Given the description of an element on the screen output the (x, y) to click on. 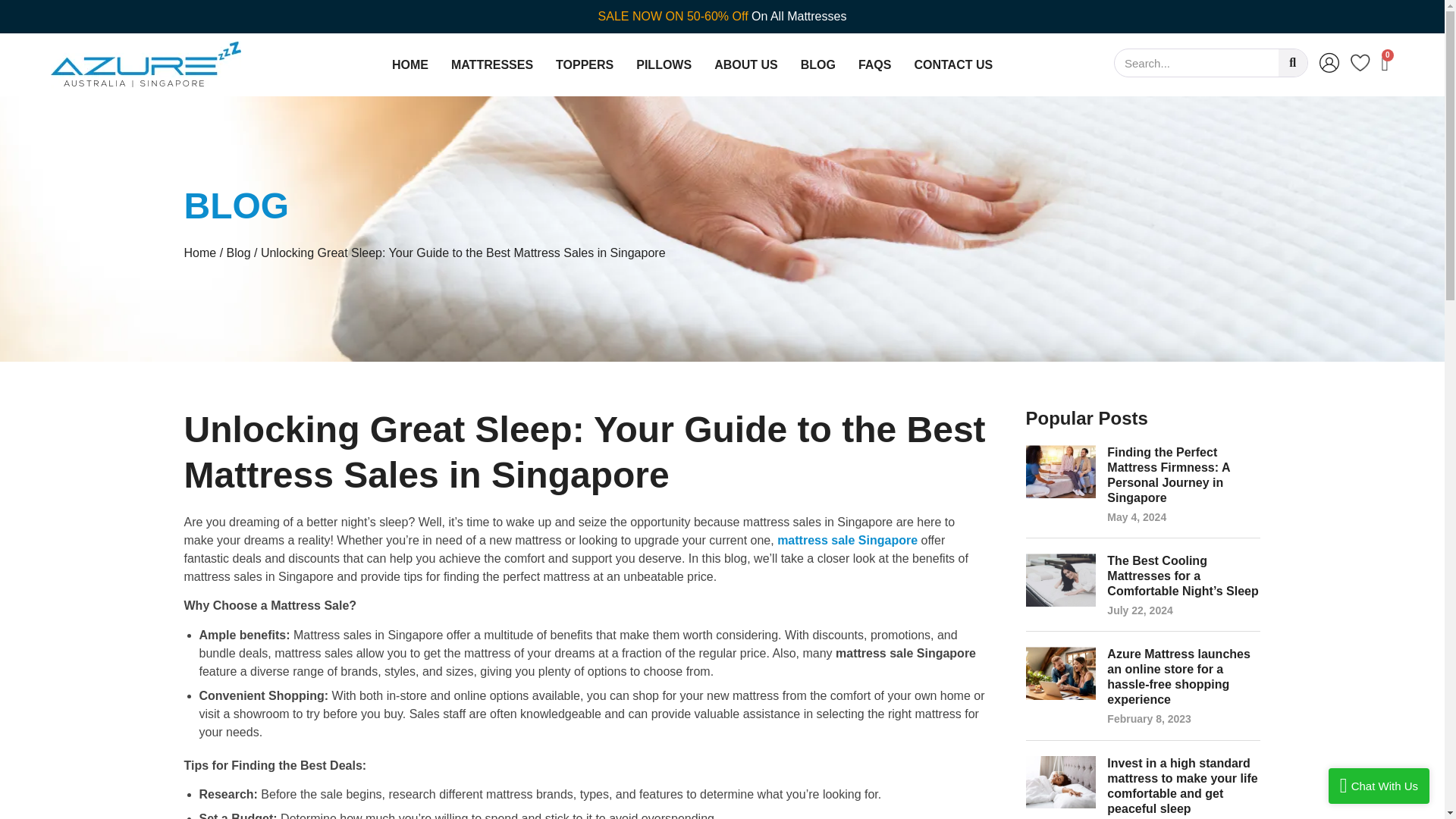
Blog (238, 252)
Home (199, 252)
BLOG (817, 63)
MATTRESSES (491, 63)
FAQS (875, 63)
PILLOWS (663, 63)
TOPPERS (584, 63)
HOME (409, 63)
CONTACT US (953, 63)
ABOUT US (745, 63)
